Given the description of an element on the screen output the (x, y) to click on. 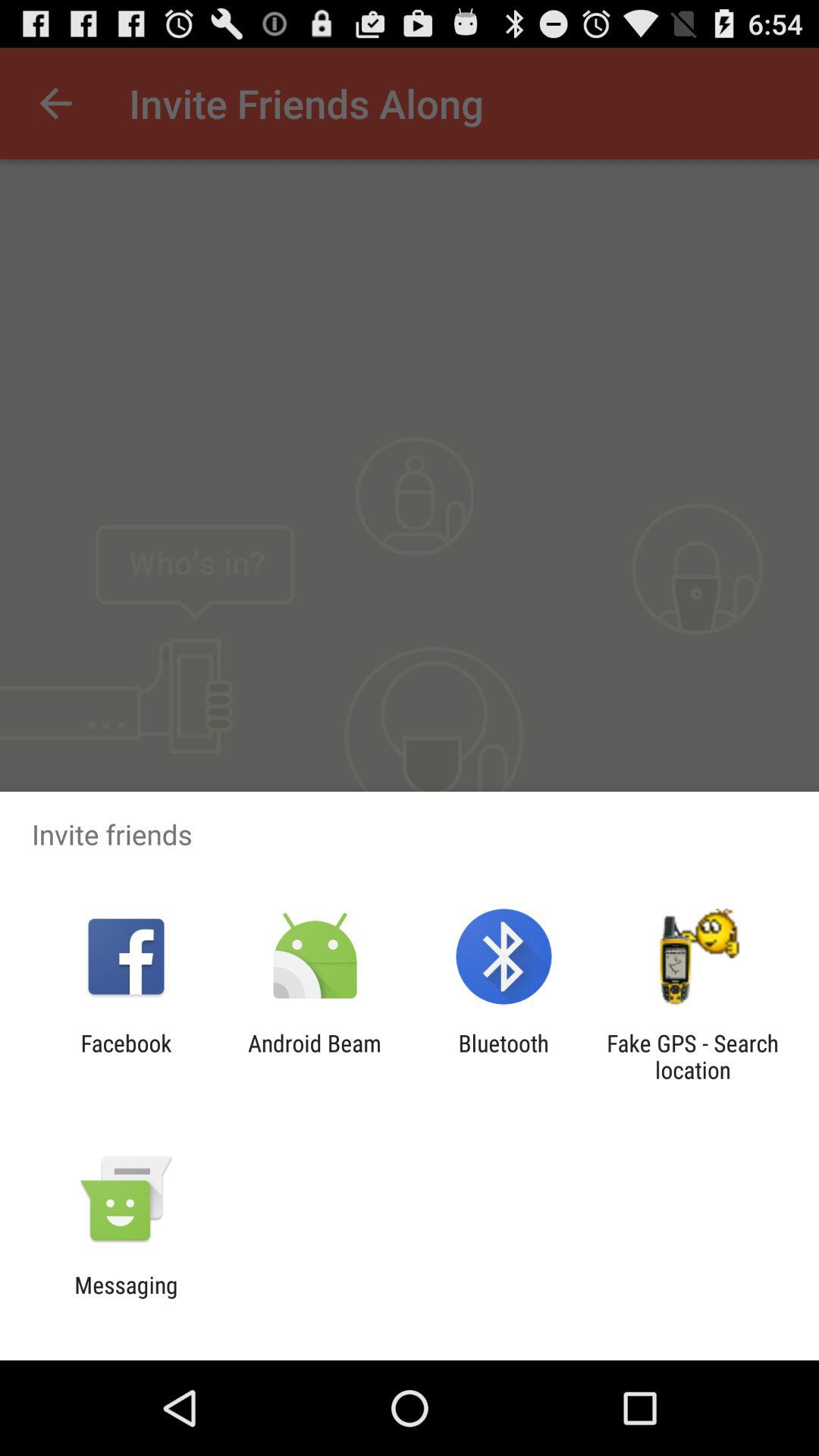
select the item next to the bluetooth icon (314, 1056)
